Given the description of an element on the screen output the (x, y) to click on. 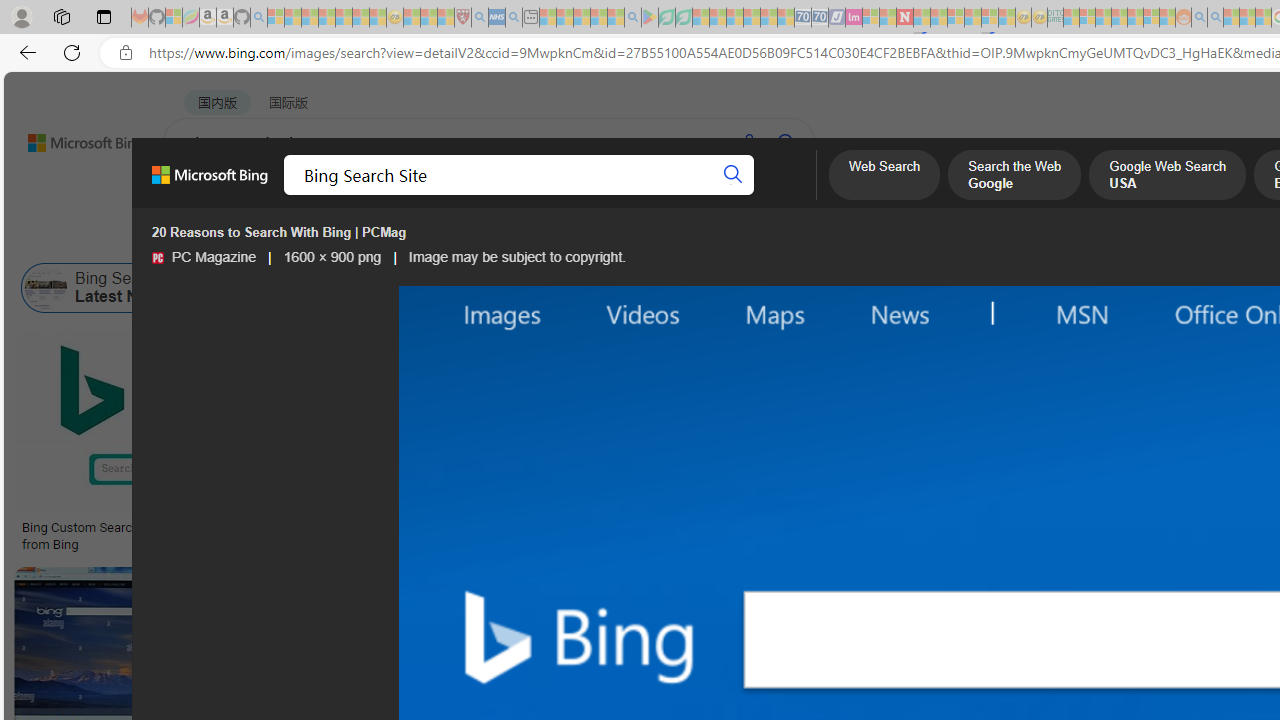
Image may be subject to copyright. (516, 257)
Bing Advanced Search Tricks You Should Know (810, 528)
Dropdown Menu (793, 195)
Bing Searches Today (502, 287)
Bing Custom Search: A New Site Search Solution from Bing (169, 535)
Search button (732, 174)
Google Web Search USA (1166, 177)
DICT (717, 195)
